Given the description of an element on the screen output the (x, y) to click on. 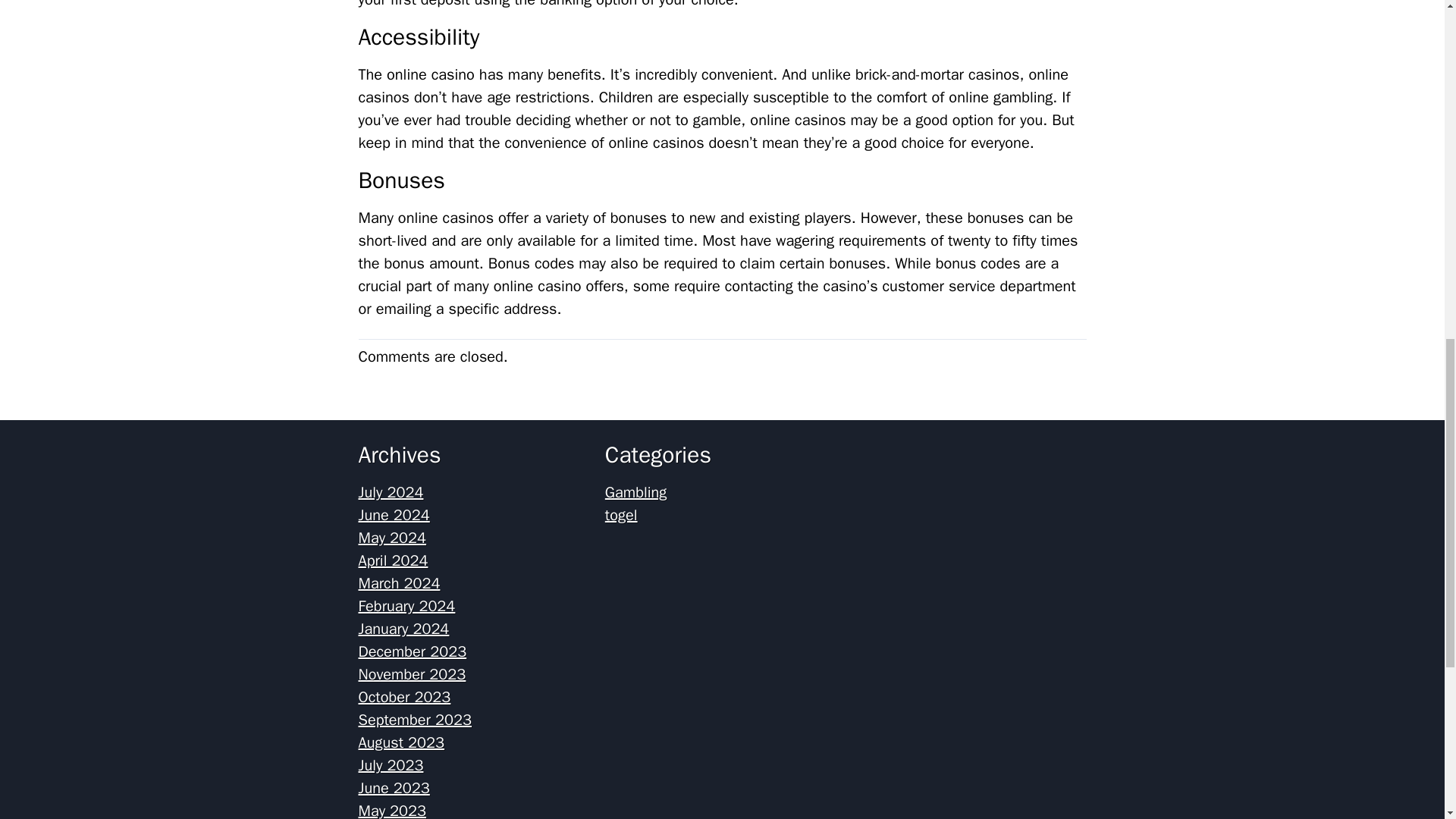
March 2024 (398, 583)
July 2024 (390, 492)
June 2024 (393, 515)
August 2023 (401, 742)
Gambling (635, 492)
togel (621, 515)
September 2023 (414, 719)
June 2023 (393, 787)
May 2023 (392, 810)
October 2023 (403, 696)
May 2024 (392, 537)
February 2024 (406, 606)
November 2023 (411, 674)
December 2023 (411, 651)
January 2024 (403, 628)
